Given the description of an element on the screen output the (x, y) to click on. 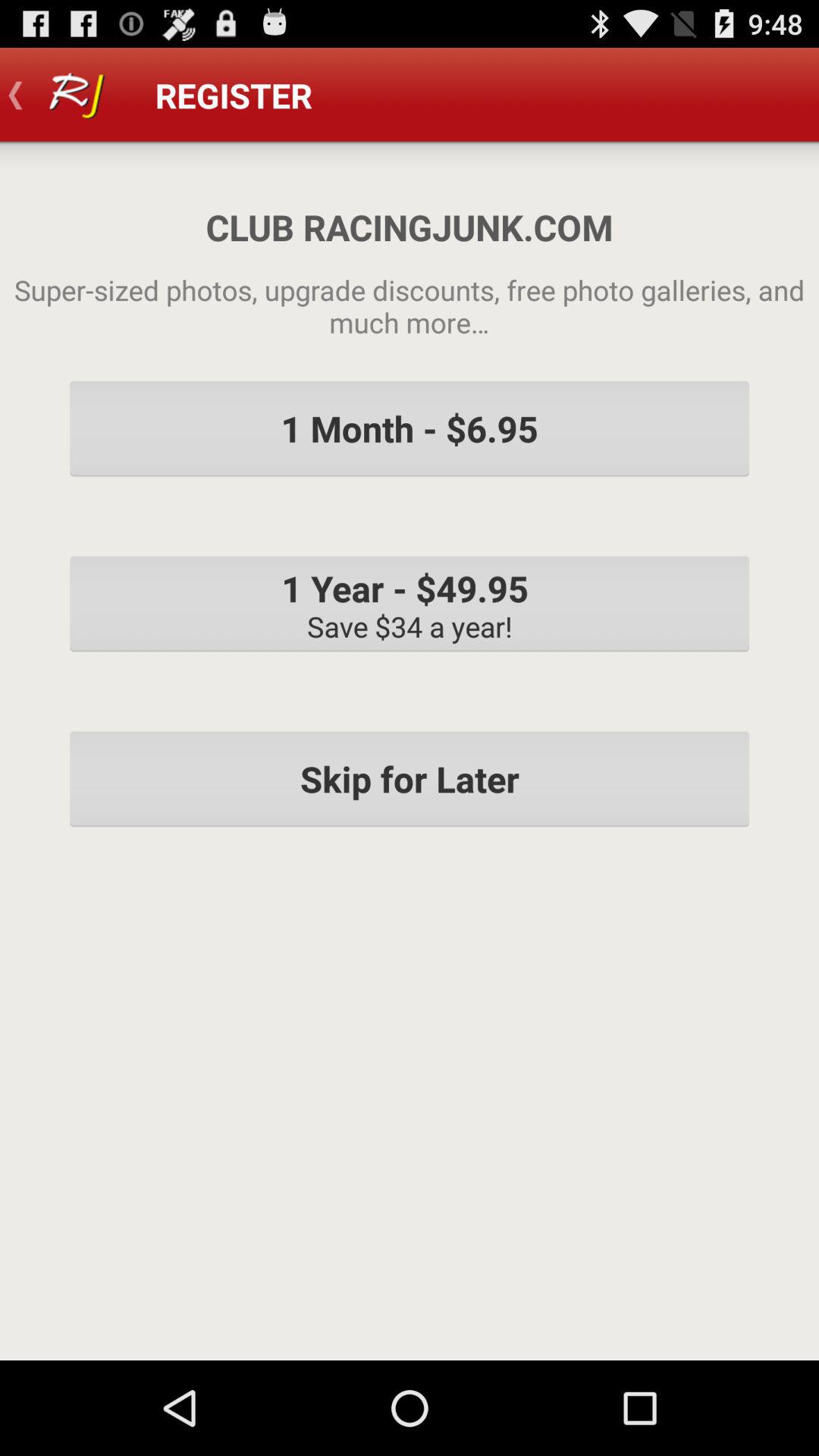
open the icon below the 1 month 6 item (409, 603)
